Given the description of an element on the screen output the (x, y) to click on. 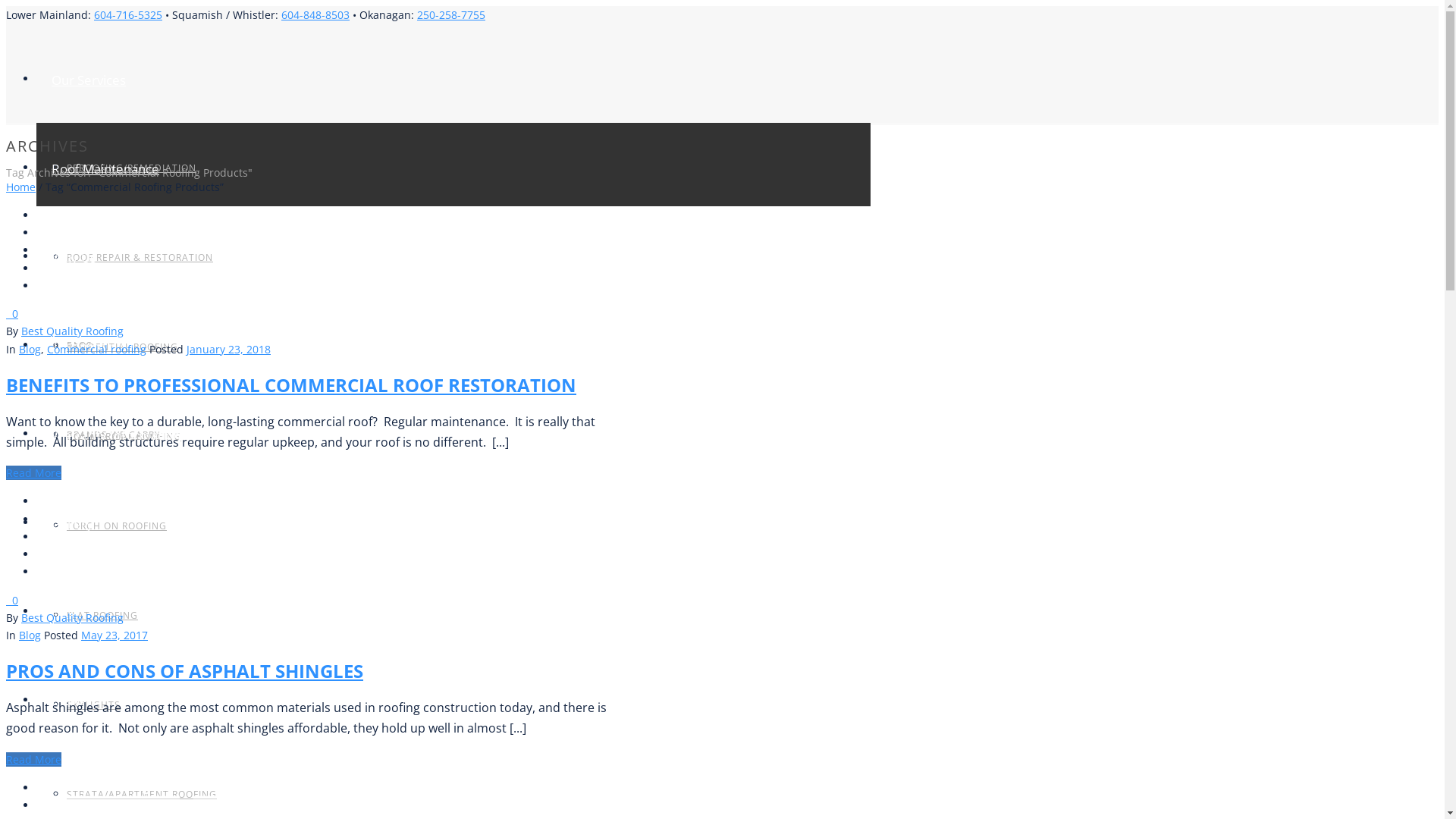
Home Element type: text (20, 186)
  0 Element type: text (12, 313)
Blog Element type: text (29, 634)
BRANDS WE CARRY Element type: text (113, 434)
Gallery Element type: text (64, 523)
Read More Element type: text (33, 759)
Best Quality Roofing Element type: text (72, 617)
PROS AND CONS OF ASPHALT SHINGLES Element type: text (184, 670)
  0 Element type: text (12, 600)
Best Quality Roofing Element type: text (72, 330)
RESIDENTIAL ROOFING Element type: text (122, 346)
FLAT ROOFING Element type: text (102, 614)
Blog Element type: text (29, 349)
REROOFING/REMEDIATION Element type: text (131, 167)
Commercial roofing Element type: text (96, 349)
Read More Element type: text (33, 472)
January 23, 2018 Element type: text (228, 349)
604-716-5325 Element type: text (128, 14)
250-258-7755 Element type: text (451, 14)
Blog Element type: text (56, 612)
STRATA/APARTMENT ROOFING Element type: text (141, 793)
Our Services Element type: text (80, 79)
Why Us Element type: text (66, 257)
TORCH ON ROOFING Element type: text (116, 525)
Roof Maintenance Element type: text (97, 168)
COMMERCIAL ROOFING Element type: text (123, 435)
Testimonials Element type: text (80, 345)
FAQS Element type: text (79, 344)
May 23, 2017 Element type: text (114, 634)
ROOF REPAIR & RESTORATION Element type: text (139, 257)
604-848-8503 Element type: text (315, 14)
BENEFITS TO PROFESSIONAL COMMERCIAL ROOF RESTORATION Element type: text (291, 384)
Contact Element type: text (66, 700)
SKYLIGHTS Element type: text (93, 704)
Warranty Information Element type: text (108, 434)
